Given the description of an element on the screen output the (x, y) to click on. 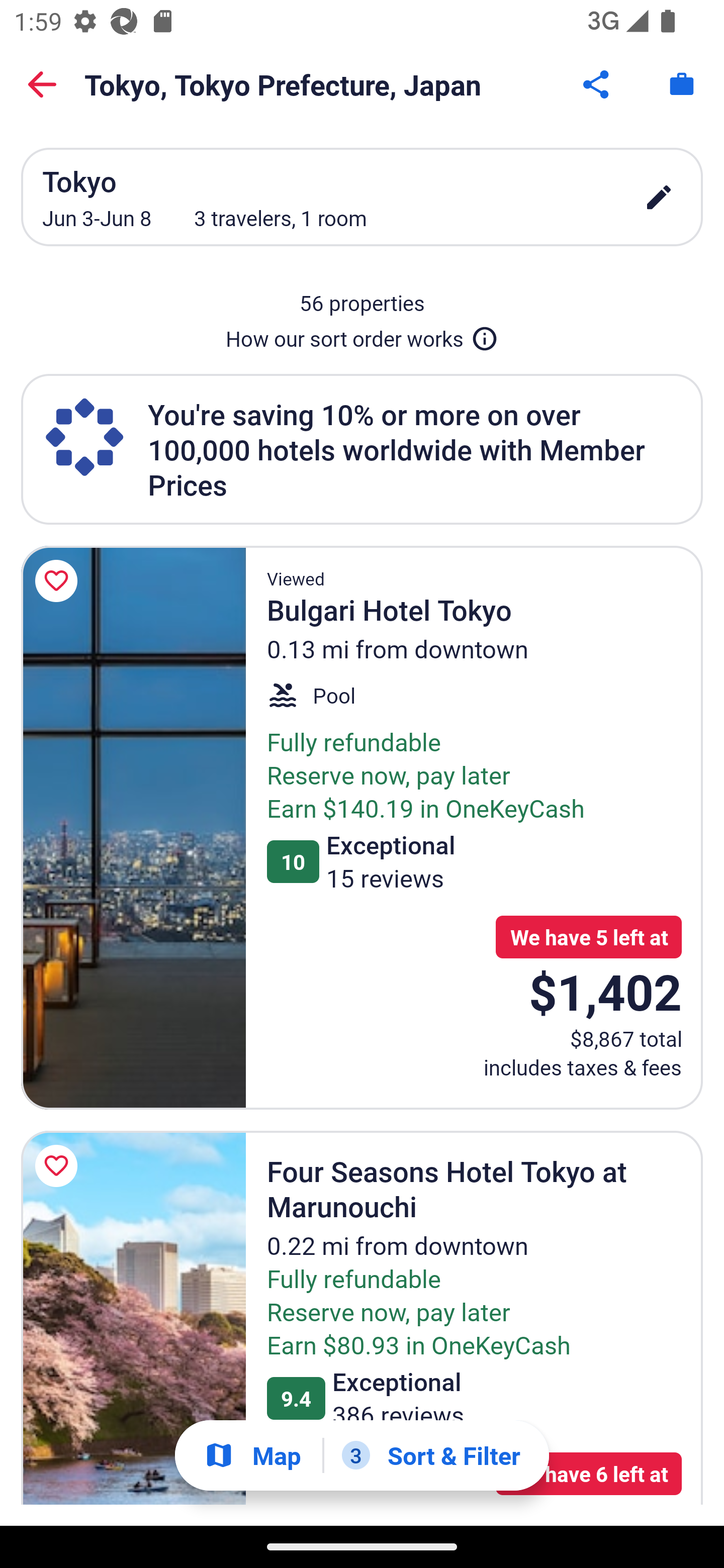
Back (42, 84)
Share Button (597, 84)
Trips. Button (681, 84)
Tokyo Jun 3-Jun 8 3 travelers, 1 room edit (361, 196)
How our sort order works (361, 334)
Save Bulgari Hotel Tokyo to a trip (59, 580)
Bulgari Hotel Tokyo (133, 827)
Four Seasons Hotel Tokyo at Marunouchi (133, 1317)
3 Sort & Filter 3 Filters applied. Filters Button (430, 1455)
Show map Map Show map Button (252, 1455)
